Given the description of an element on the screen output the (x, y) to click on. 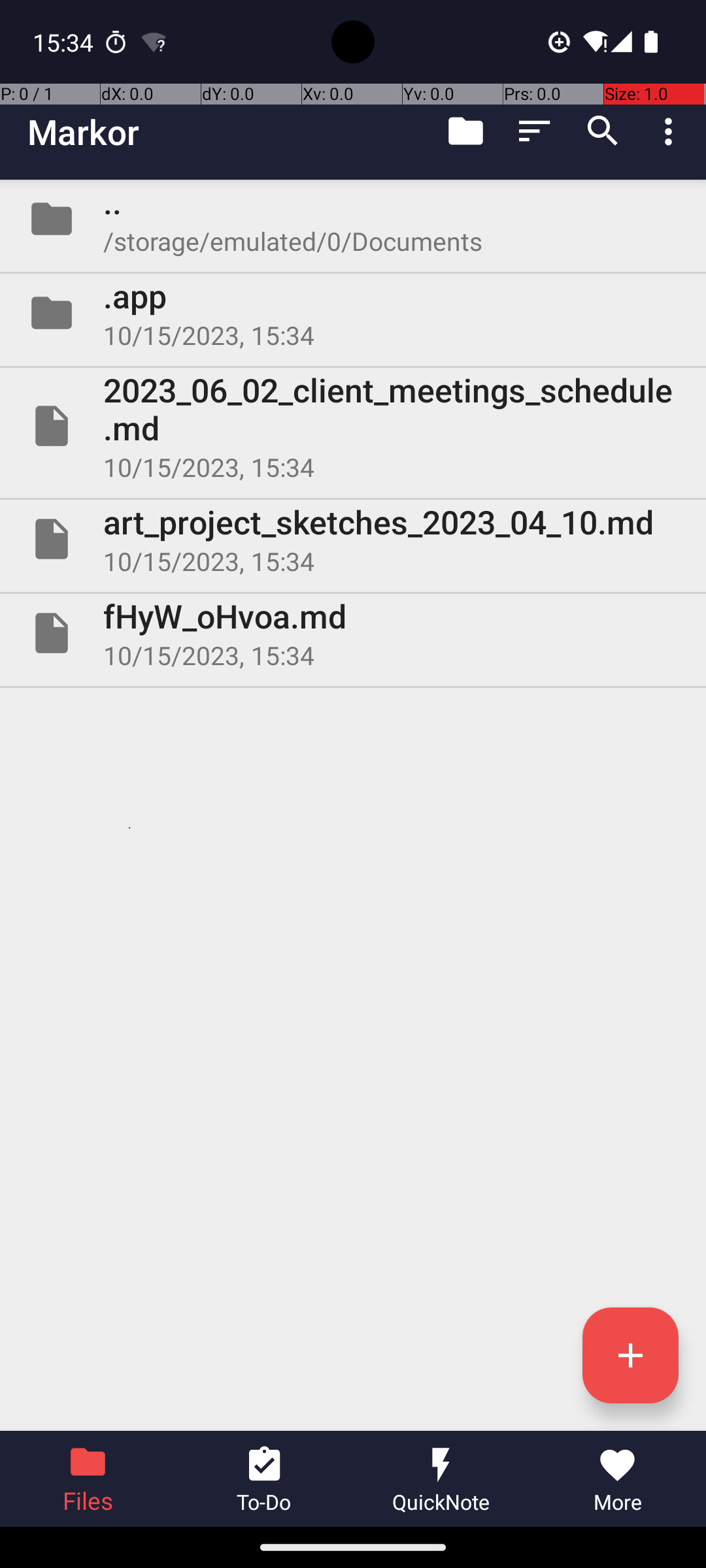
Folder .app  Element type: android.widget.LinearLayout (353, 312)
File 2023_06_02_client_meetings_schedule.md  Element type: android.widget.LinearLayout (353, 425)
File art_project_sketches_2023_04_10.md  Element type: android.widget.LinearLayout (353, 538)
File fHyW_oHvoa.md  Element type: android.widget.LinearLayout (353, 632)
